Given the description of an element on the screen output the (x, y) to click on. 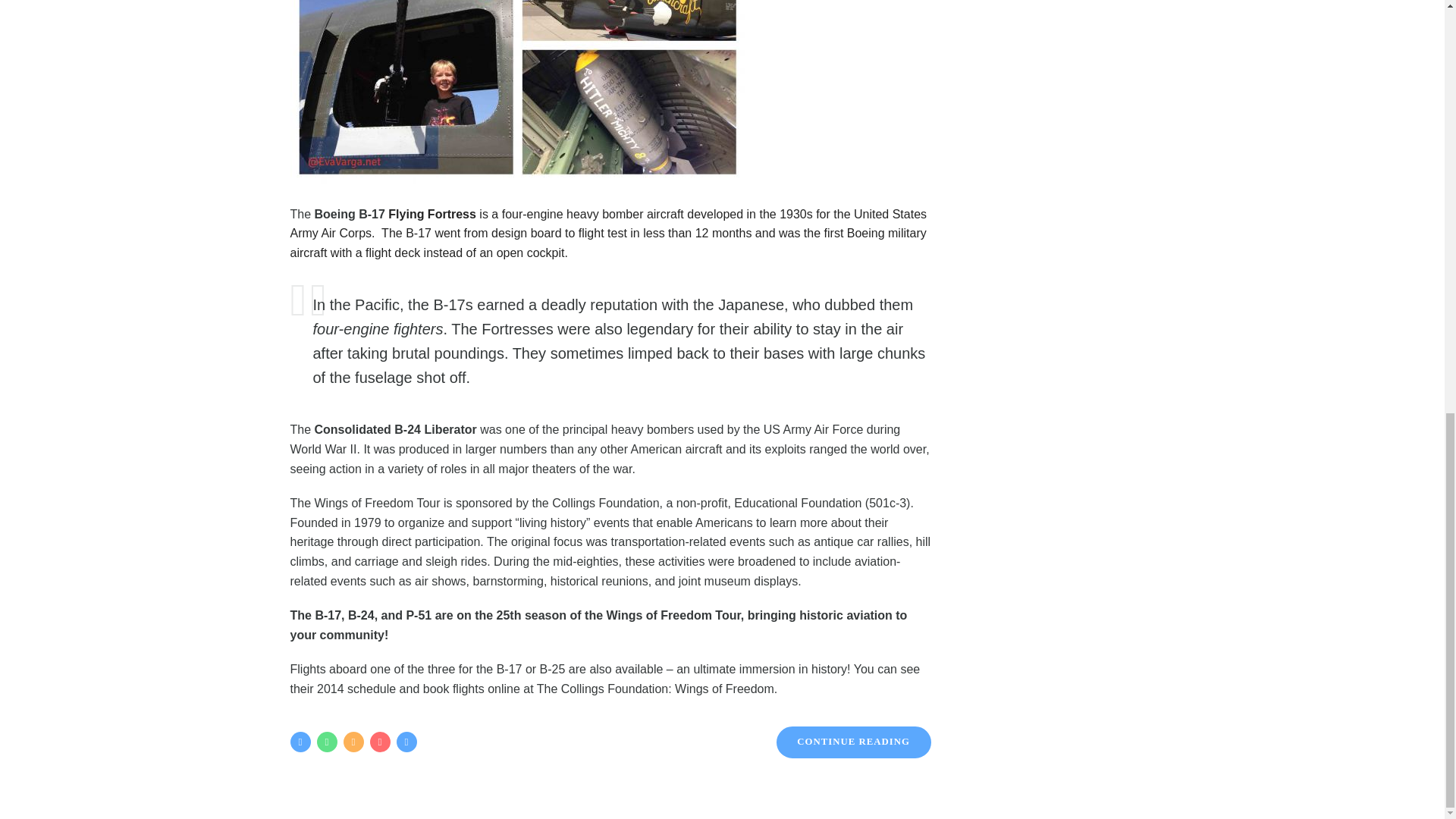
Collings Foundation: Wings of Freedom (377, 502)
Wings of Freedom Tour (377, 502)
CONTINUE READING (853, 742)
Collings Foundation: Wings of Freedom (655, 688)
The Collings Foundation: Wings of Freedom (655, 688)
